Given the description of an element on the screen output the (x, y) to click on. 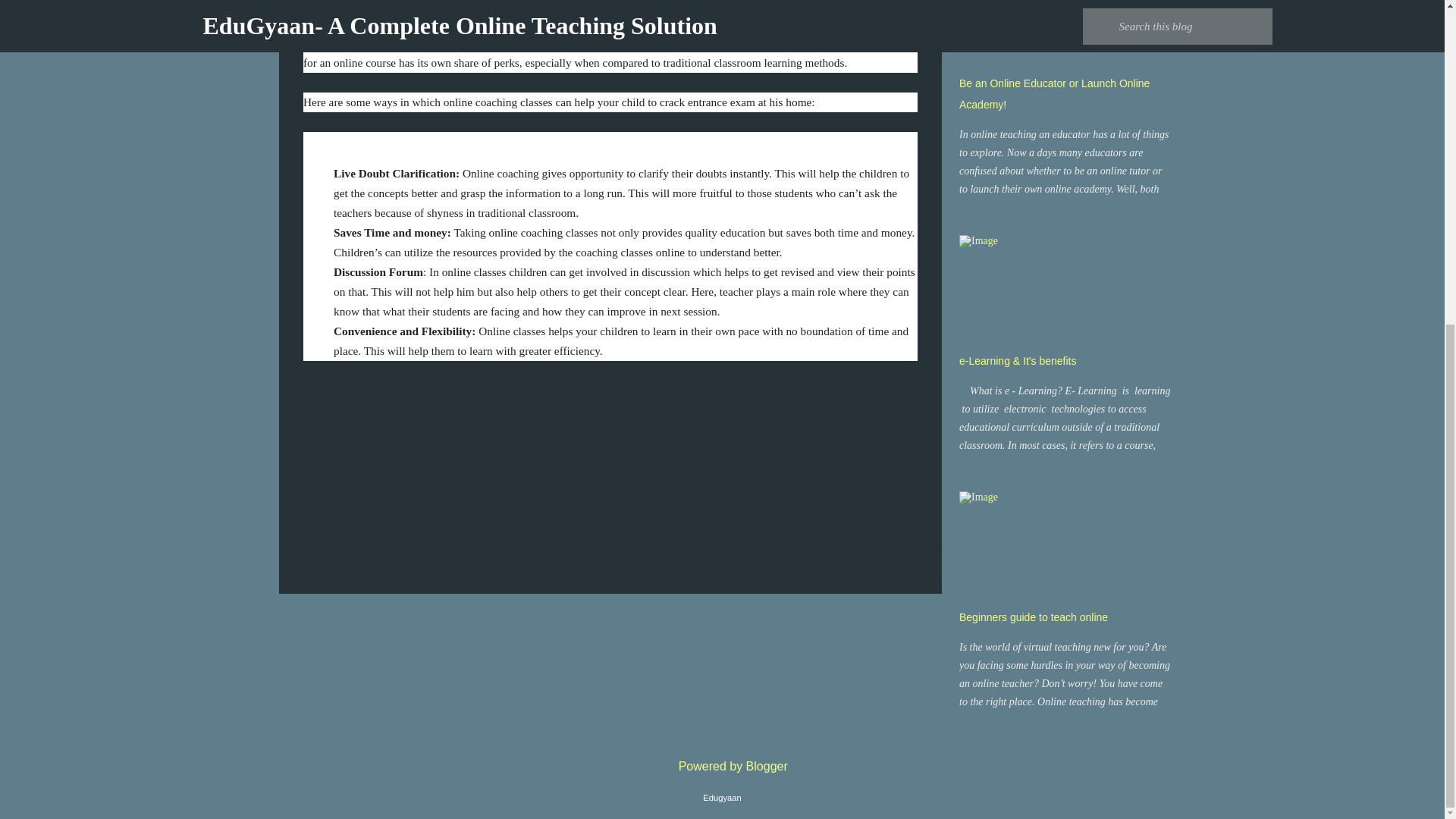
Beginners guide to teach online (1033, 616)
Powered by Blogger (721, 766)
Be an Online Educator or Launch Online Academy! (1054, 93)
